Given the description of an element on the screen output the (x, y) to click on. 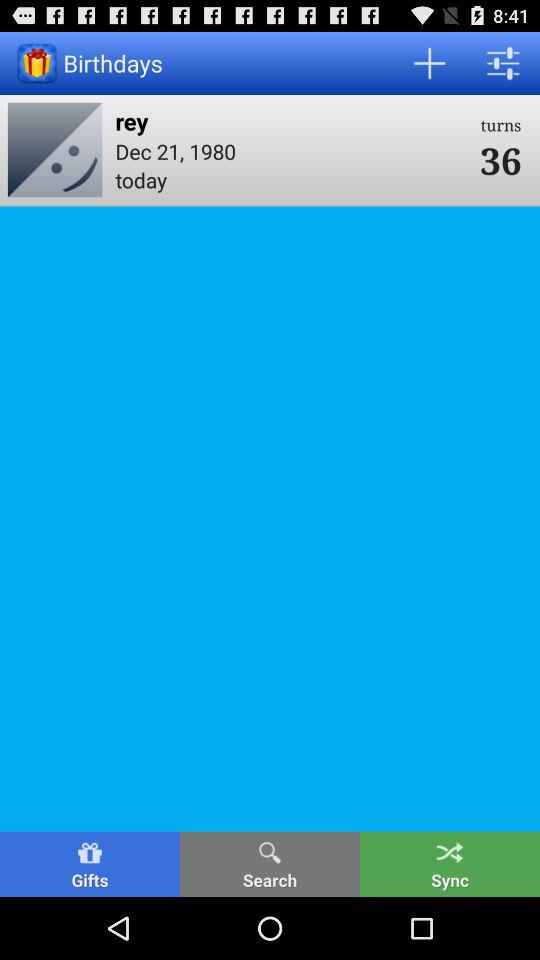
press the gifts (90, 863)
